Given the description of an element on the screen output the (x, y) to click on. 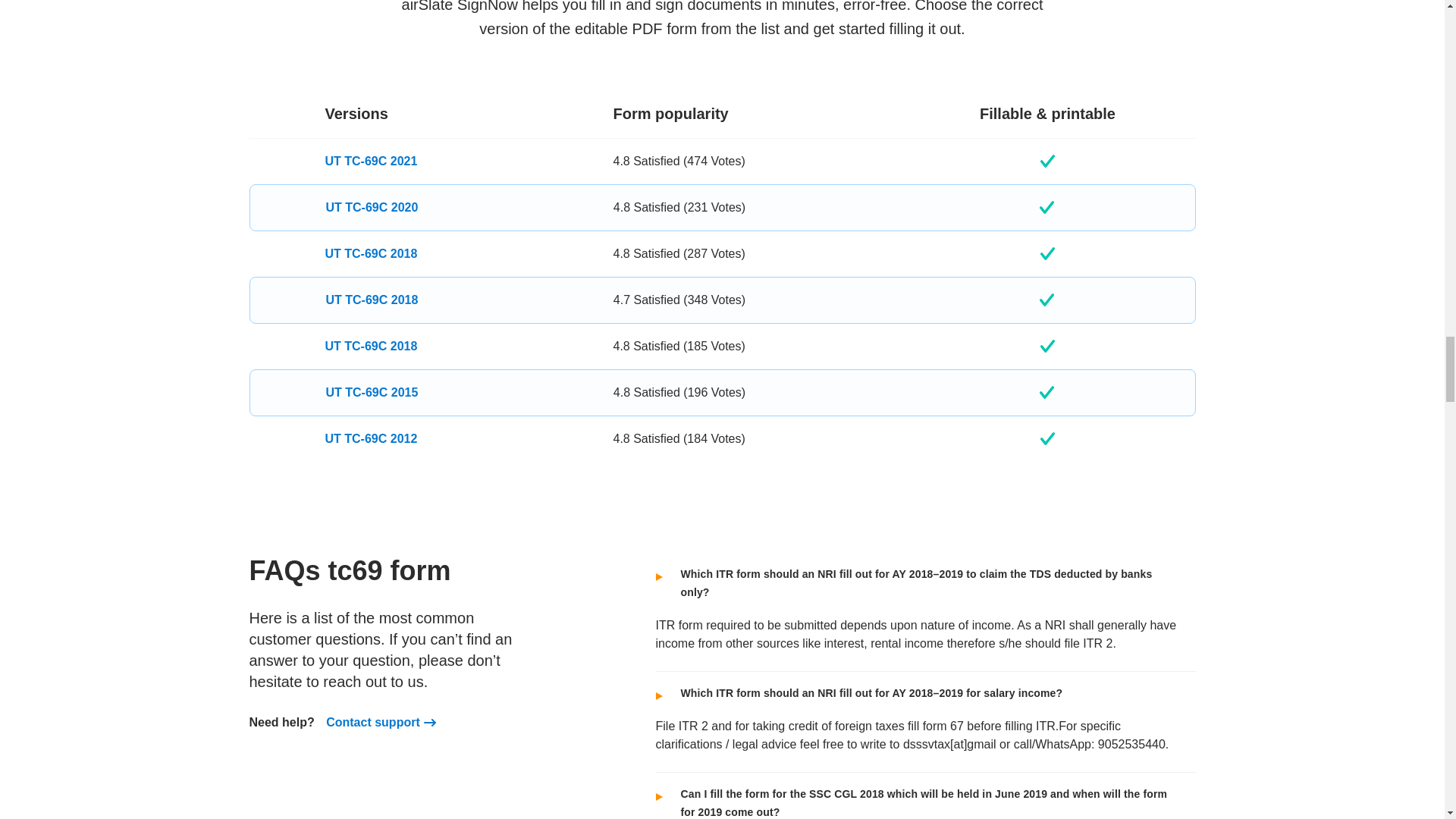
UT TC-69C 2012 (370, 438)
UT TC-69C 2018 (370, 346)
UT TC-69C 2015 (372, 392)
UT TC-69C 2018 (370, 253)
UT TC-69C 2020 (372, 207)
UT TC-69C 2018 (372, 300)
UT TC-69C 2021 (370, 160)
Contact support (373, 722)
